Given the description of an element on the screen output the (x, y) to click on. 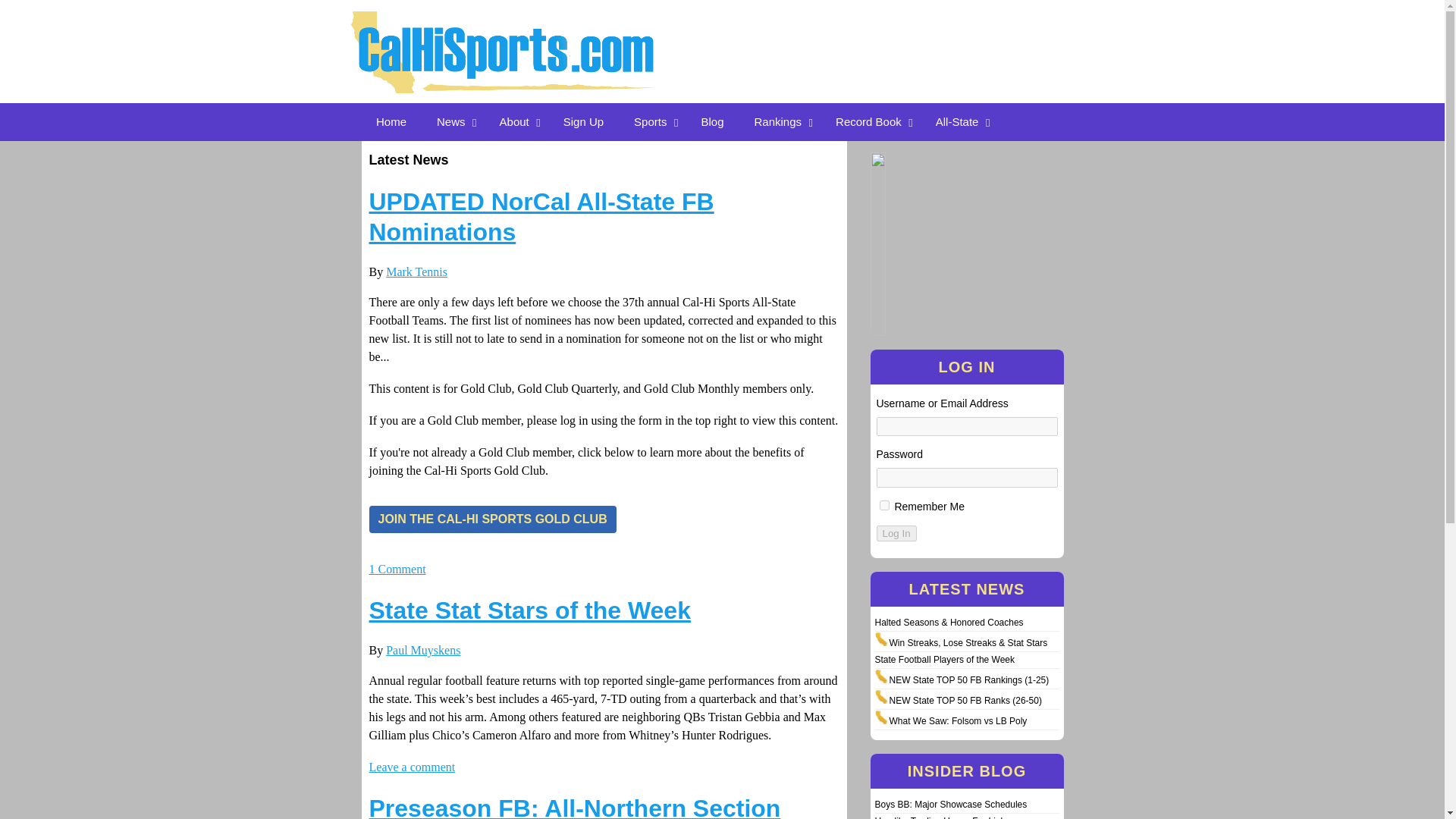
View all posts by Paul Muyskens (422, 649)
Sports (651, 121)
Blog (711, 121)
Record Book (870, 121)
forever (884, 505)
Rankings (779, 121)
Permalink to Boys BB: Major Showcase Schedules (951, 804)
News (453, 121)
About (516, 121)
Permalink to UPDATED NorCal All-State FB Nominations (540, 216)
